Given the description of an element on the screen output the (x, y) to click on. 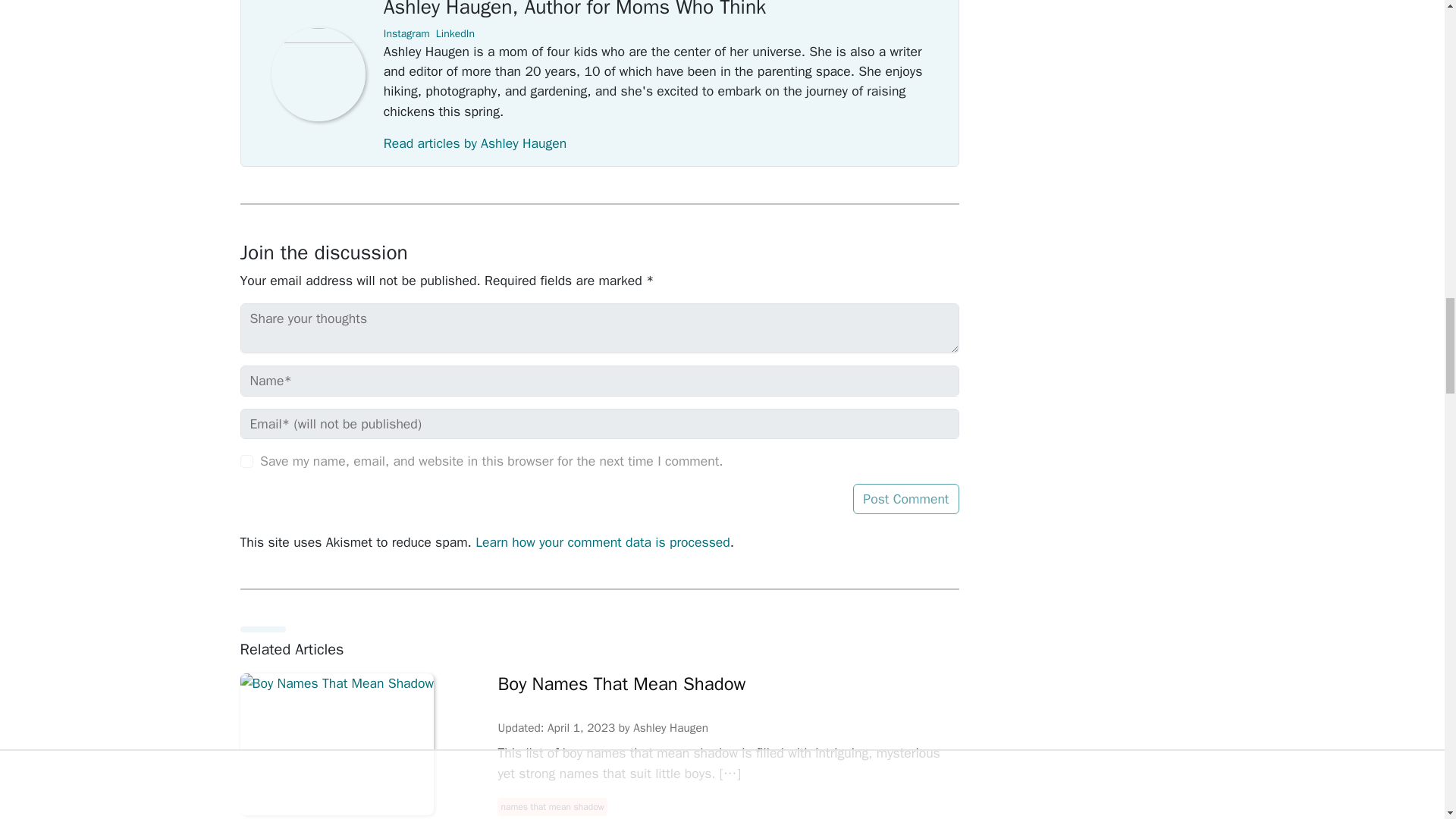
yes (246, 461)
Post Comment (905, 499)
